Given the description of an element on the screen output the (x, y) to click on. 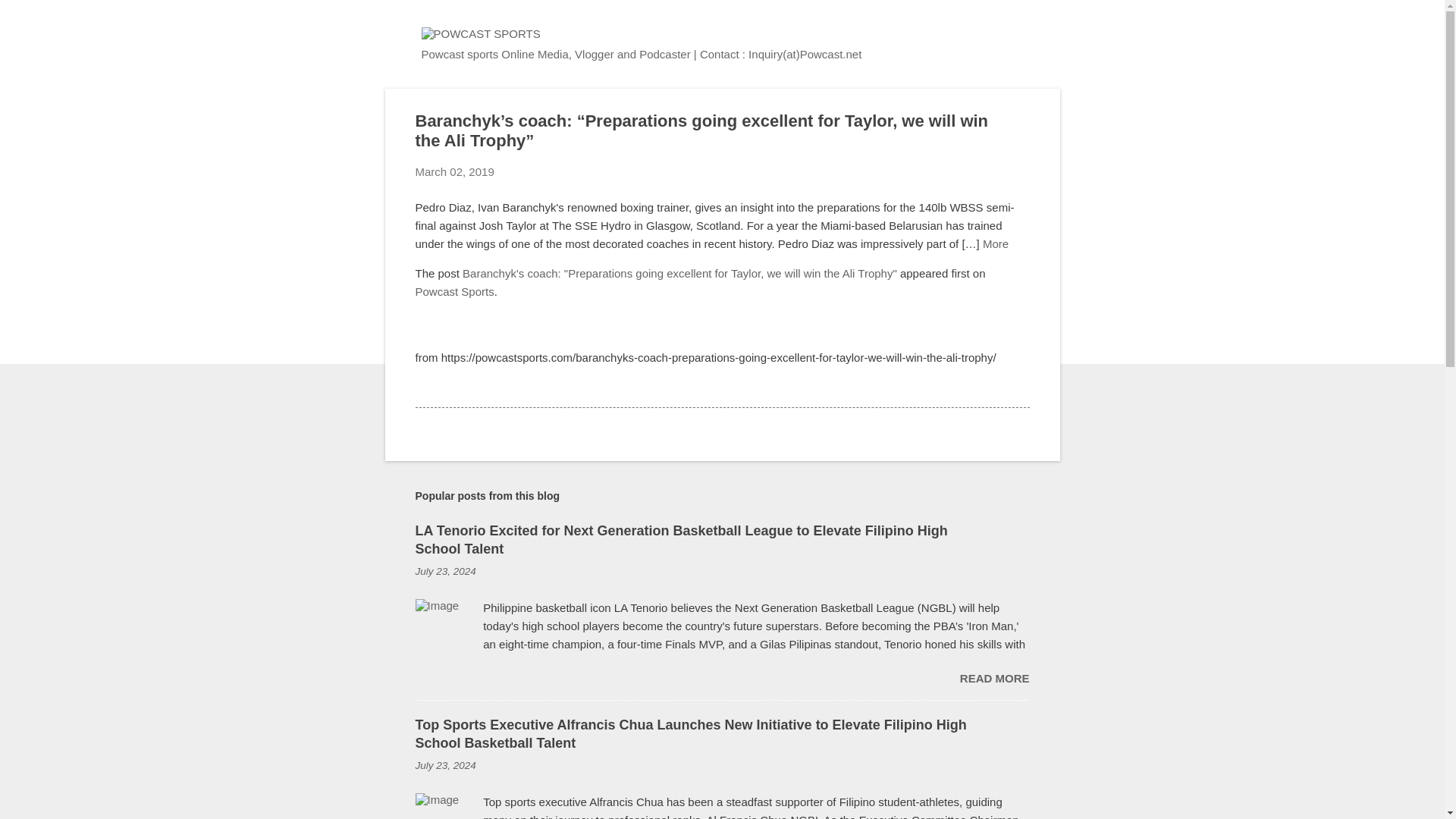
July 23, 2024 (445, 765)
READ MORE (994, 677)
permanent link (454, 171)
Powcast Sports (454, 291)
More (995, 242)
permanent link (445, 571)
Search (29, 18)
permanent link (445, 765)
July 23, 2024 (445, 571)
March 02, 2019 (454, 171)
